Given the description of an element on the screen output the (x, y) to click on. 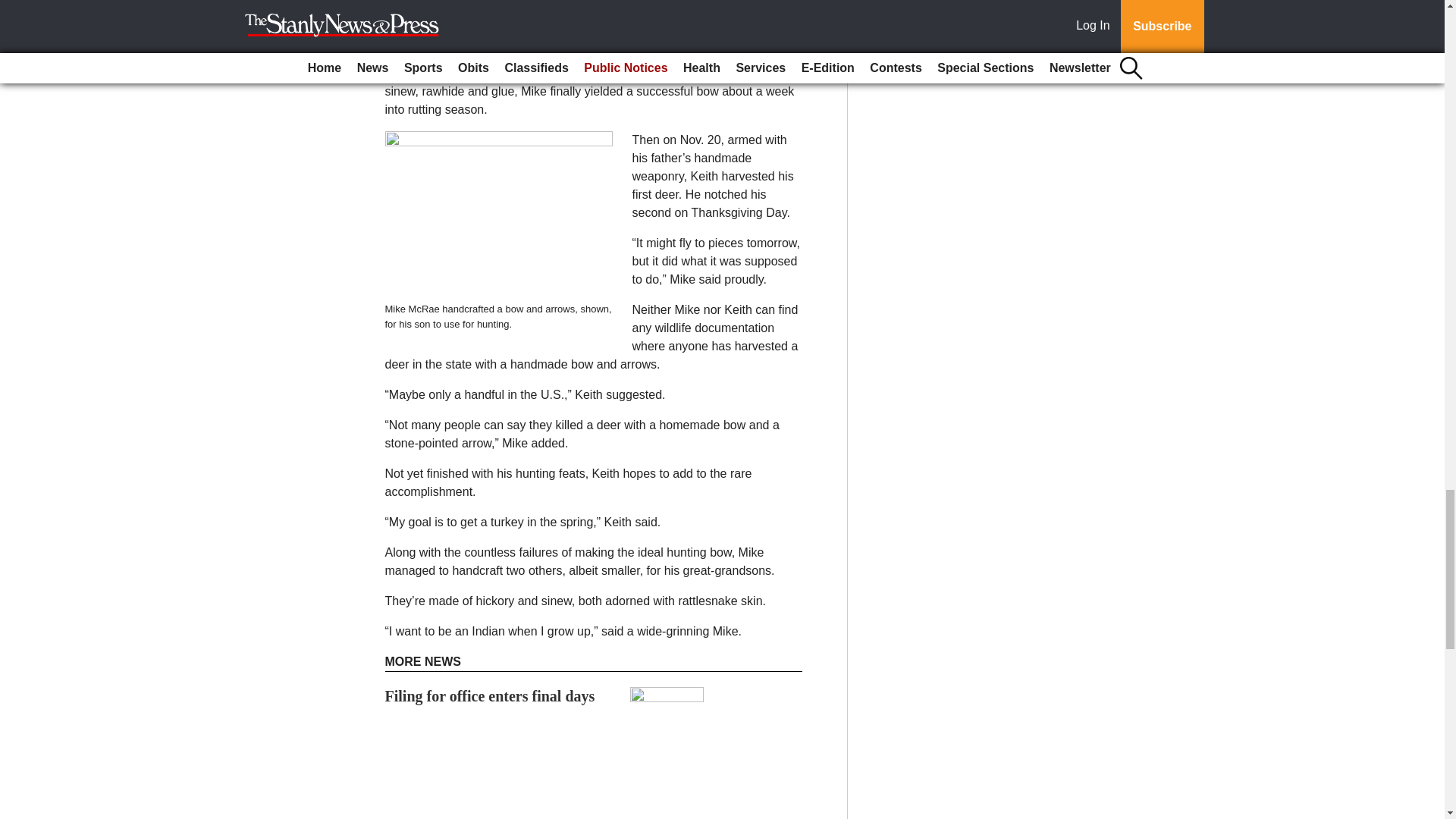
Filing for office enters final days (490, 695)
Filing for office enters final days (490, 695)
